Given the description of an element on the screen output the (x, y) to click on. 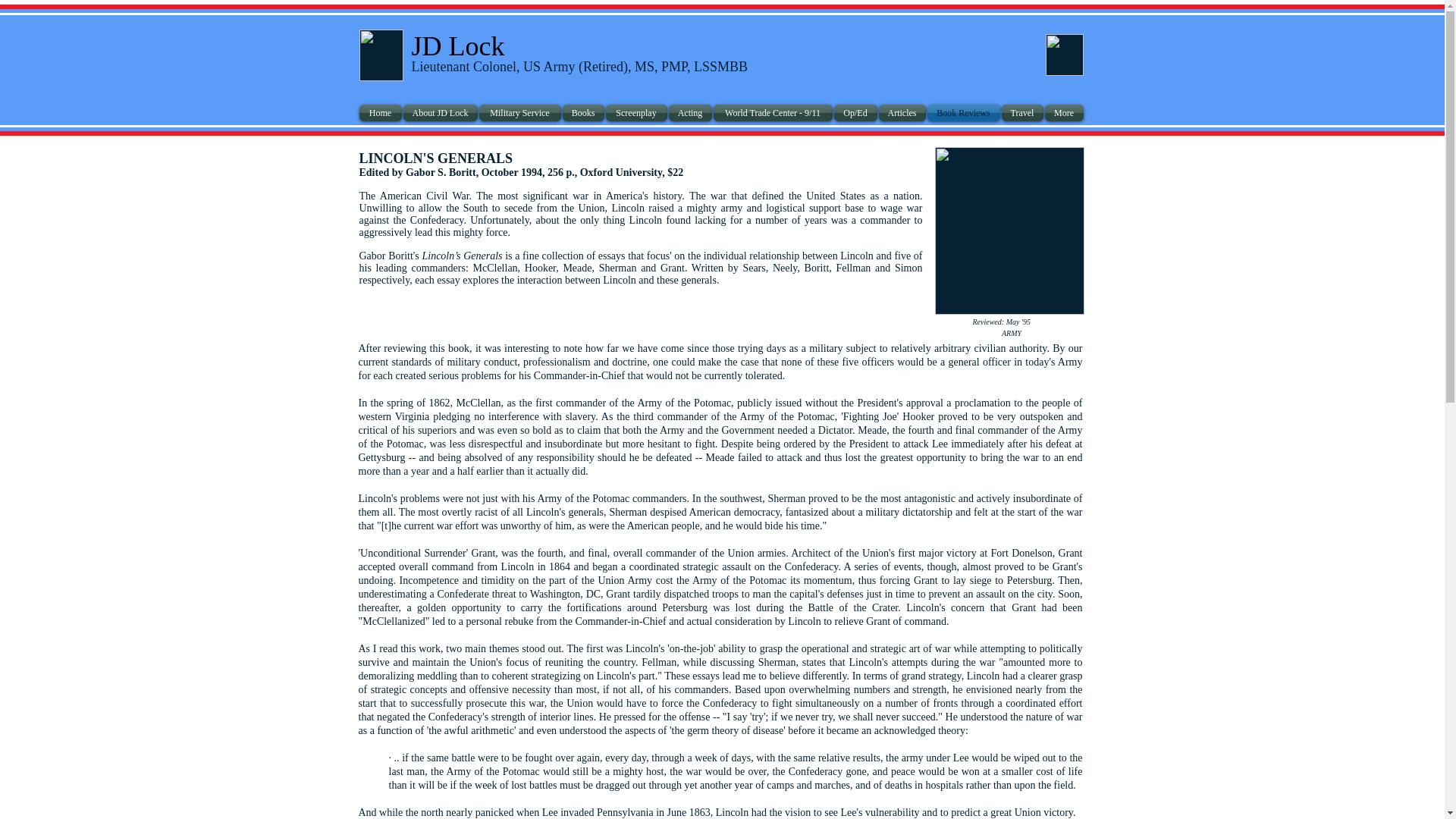
About JD Lock (439, 112)
Home (381, 112)
Books (582, 112)
Military Service (518, 112)
USMA '82 (1064, 55)
